Given the description of an element on the screen output the (x, y) to click on. 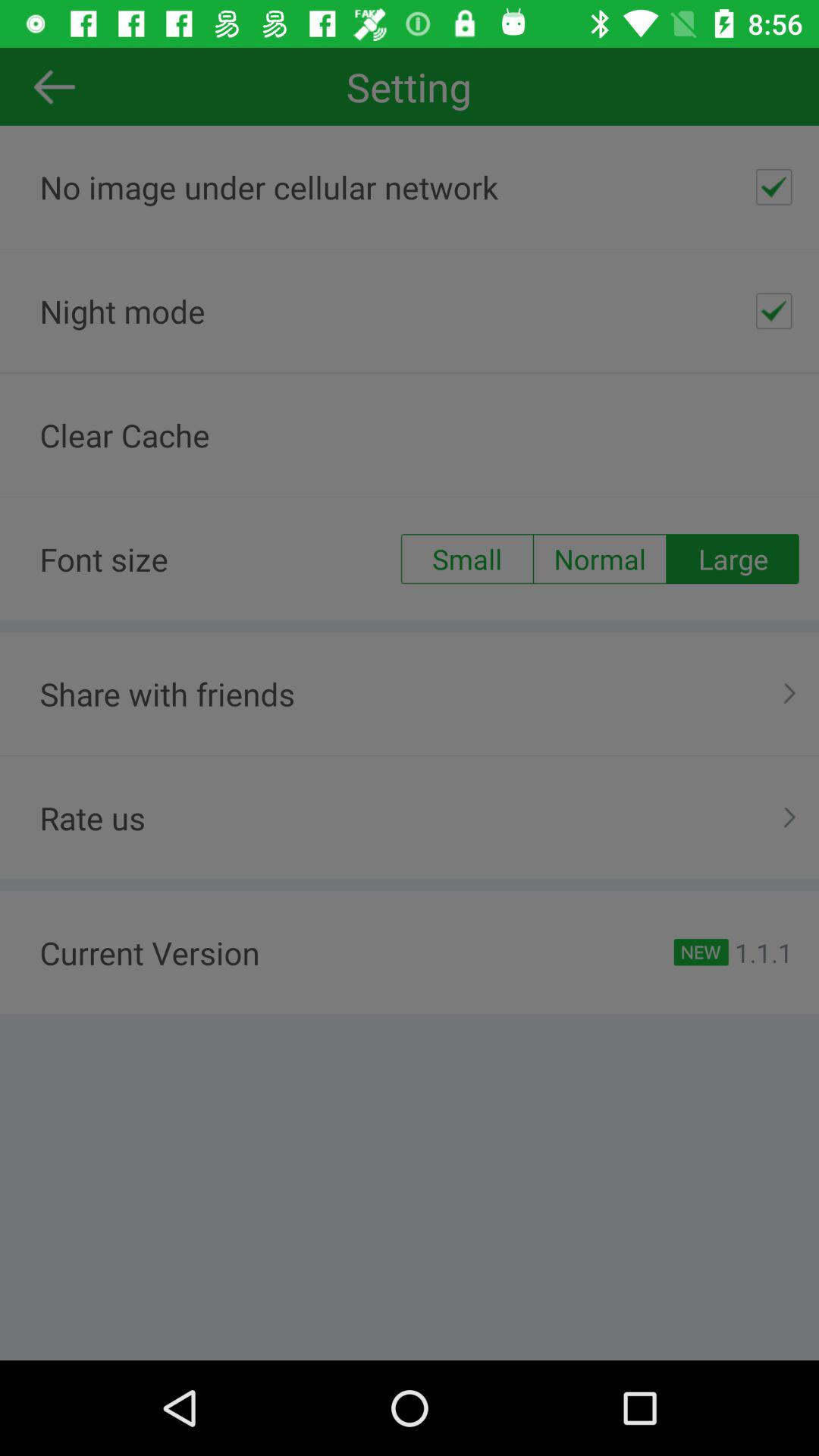
launch the item above share with friends item (600, 559)
